Given the description of an element on the screen output the (x, y) to click on. 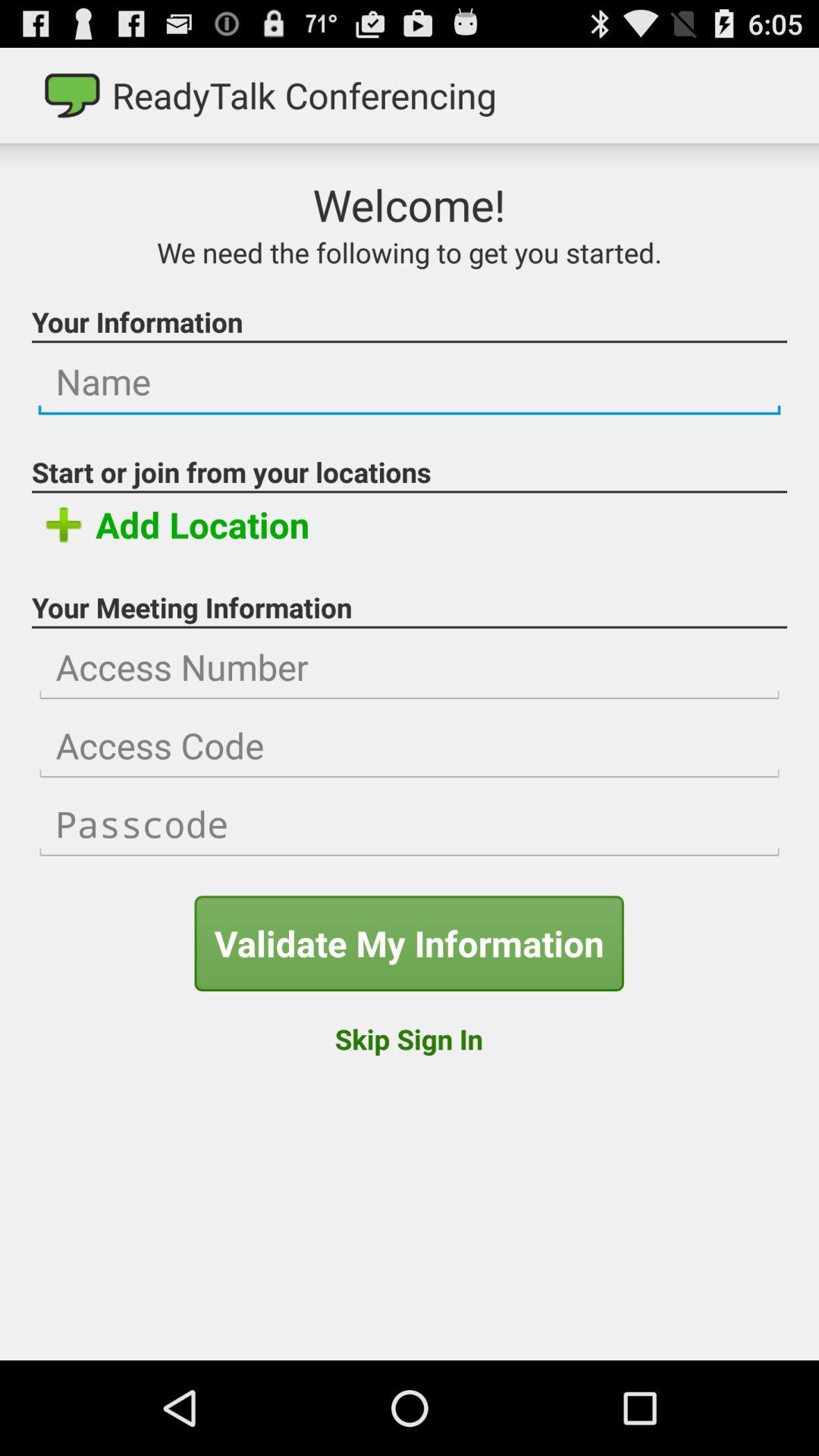
enter passcode (409, 824)
